Given the description of an element on the screen output the (x, y) to click on. 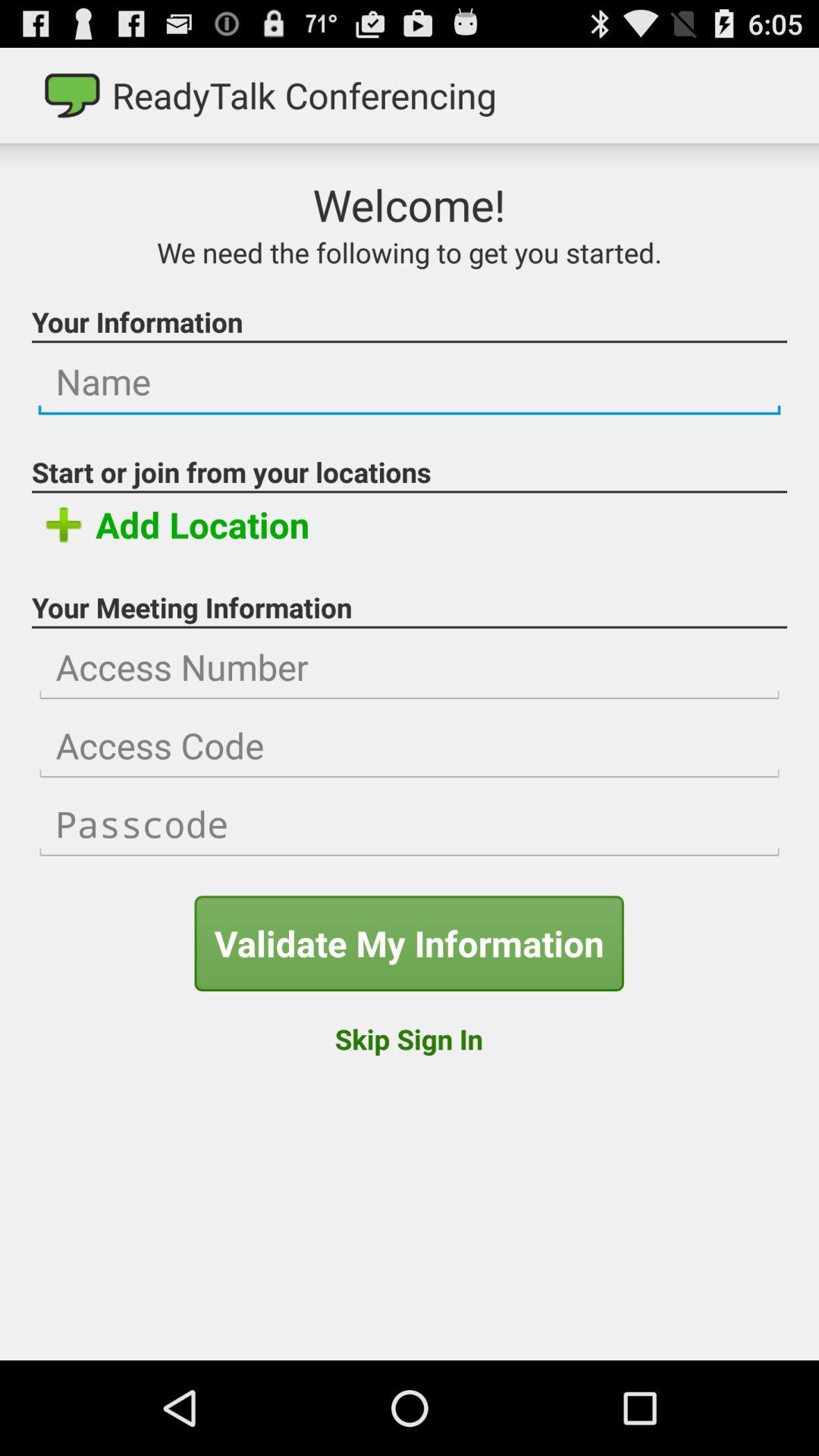
enter passcode (409, 824)
